Given the description of an element on the screen output the (x, y) to click on. 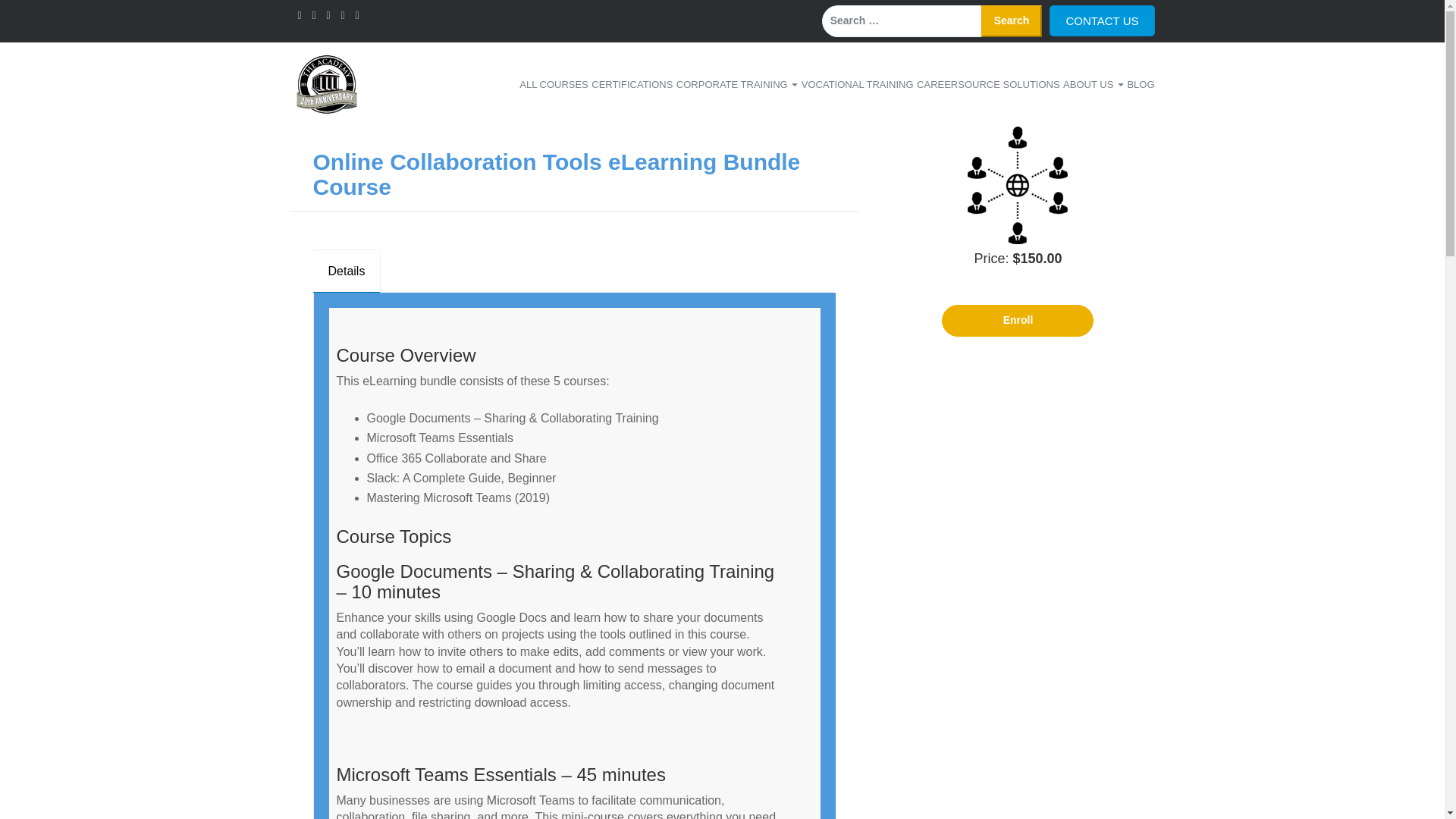
Search (1011, 20)
CERTIFICATIONS (631, 84)
Certifications (631, 84)
Search (1011, 20)
Academy Florida (325, 83)
Corporate Training (737, 84)
CAREERSOURCE SOLUTIONS (988, 84)
ABOUT US (1093, 84)
All Courses (553, 84)
VOCATIONAL TRAINING (858, 84)
Search (1011, 20)
CORPORATE TRAINING (737, 84)
ALL COURSES (553, 84)
CONTACT US (1101, 20)
